Given the description of an element on the screen output the (x, y) to click on. 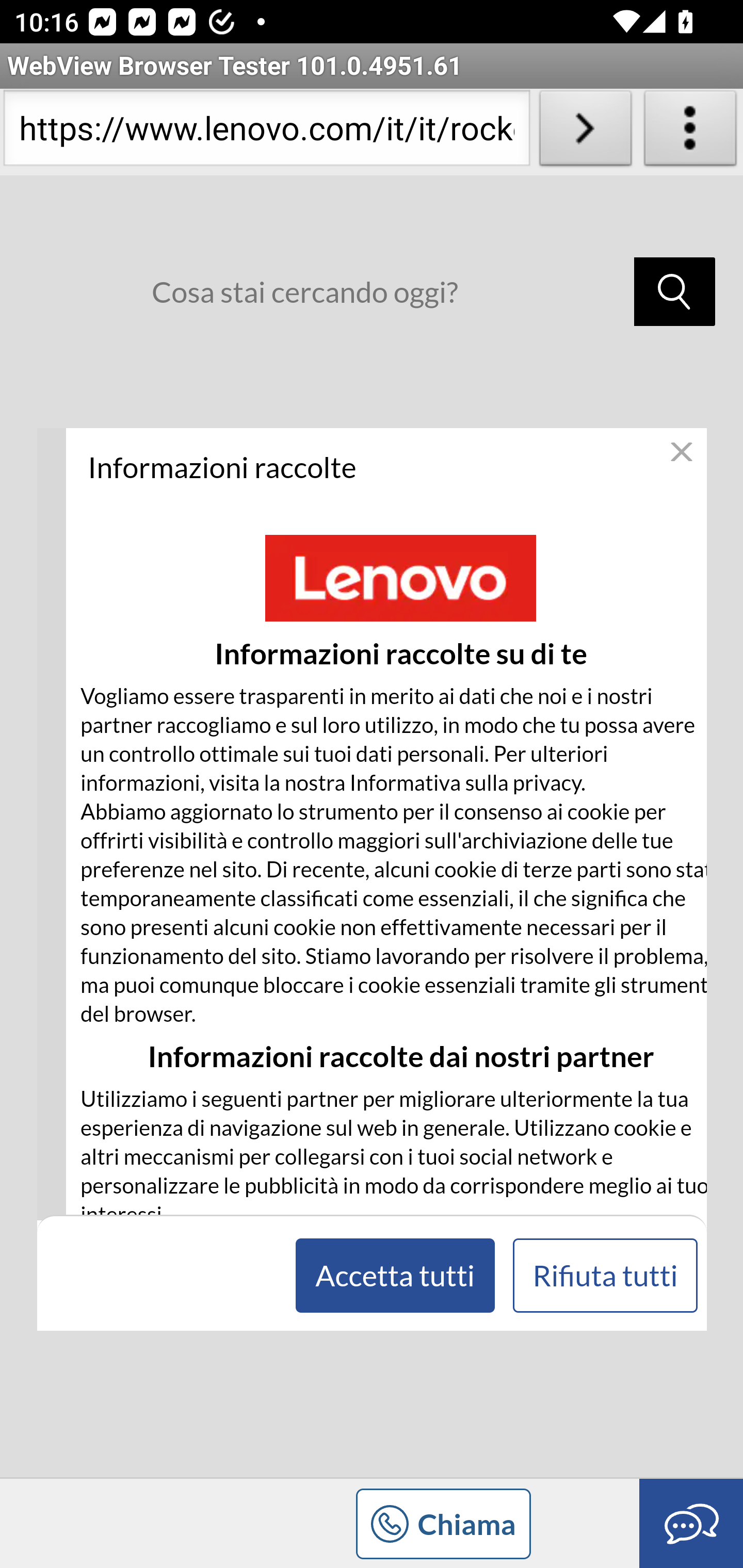
Load URL (585, 132)
About WebView (690, 132)
Informazioni raccolte (386, 467)
close dialog button (681, 452)
Accetta tutti (394, 1274)
Rifiuta tutti (604, 1274)
Chiama (371, 1521)
Chiama (442, 1524)
